Given the description of an element on the screen output the (x, y) to click on. 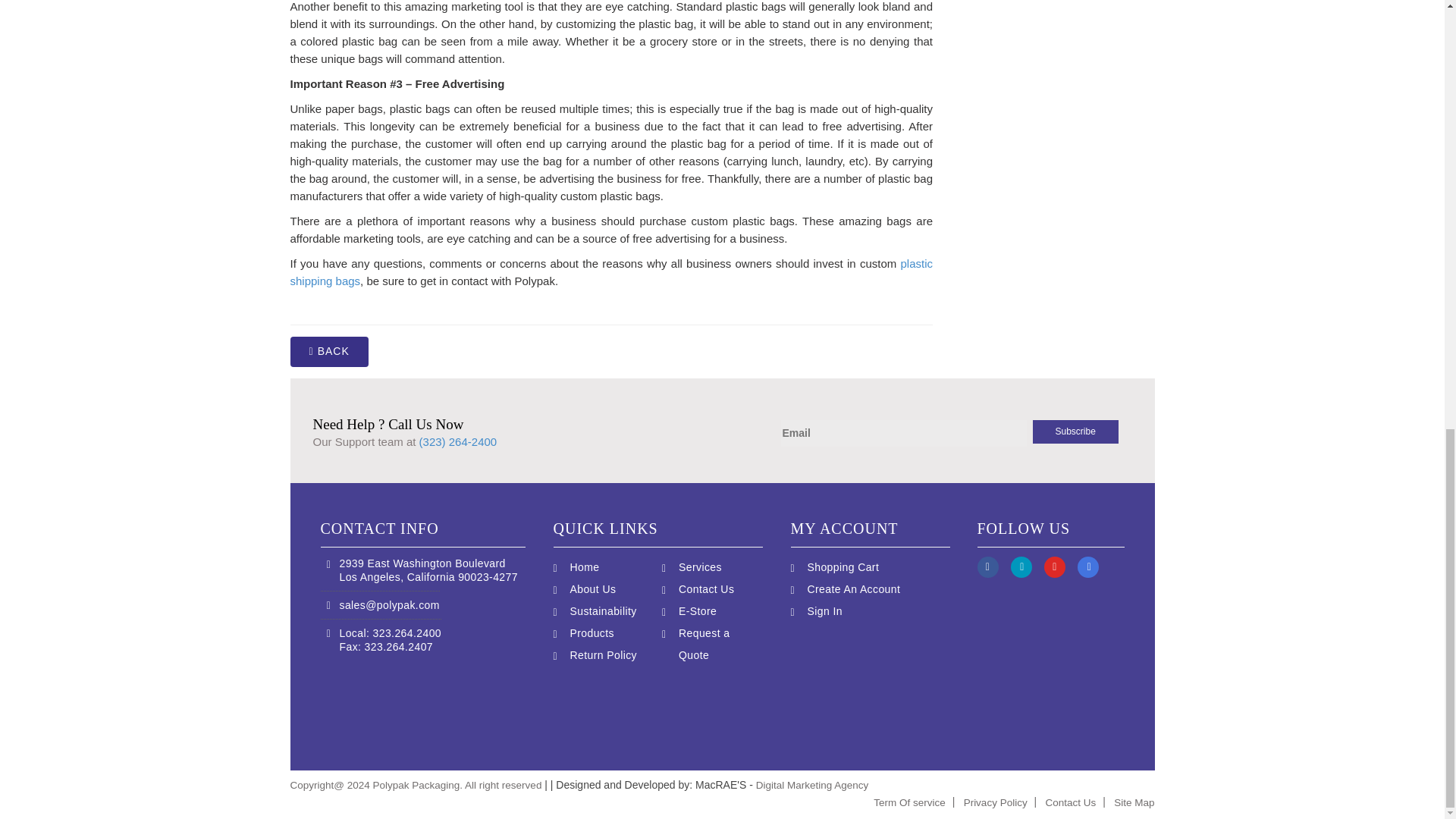
facebook (993, 566)
linkedin (1026, 566)
GMB (1093, 566)
youtube (1060, 566)
Subscribe (1075, 431)
